Given the description of an element on the screen output the (x, y) to click on. 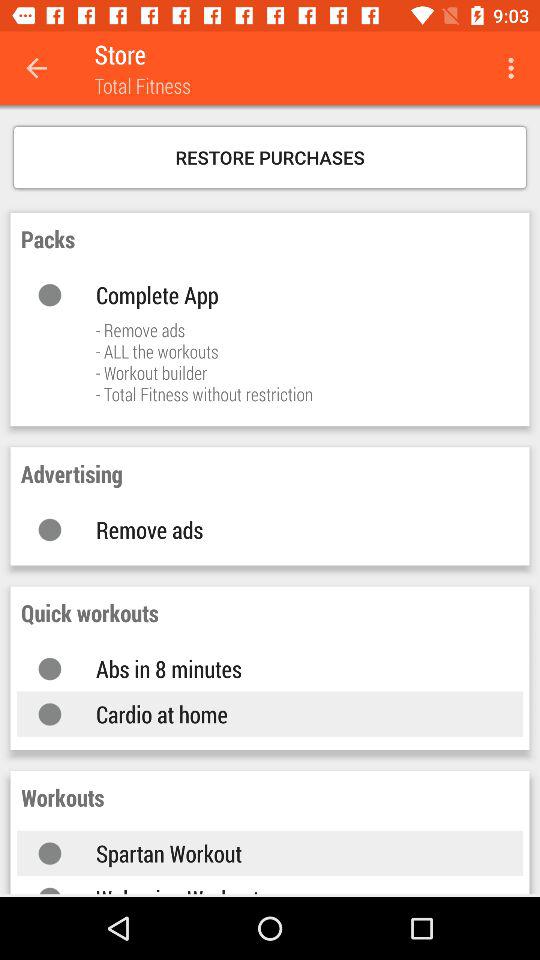
launch the item below the quick workouts item (289, 668)
